Given the description of an element on the screen output the (x, y) to click on. 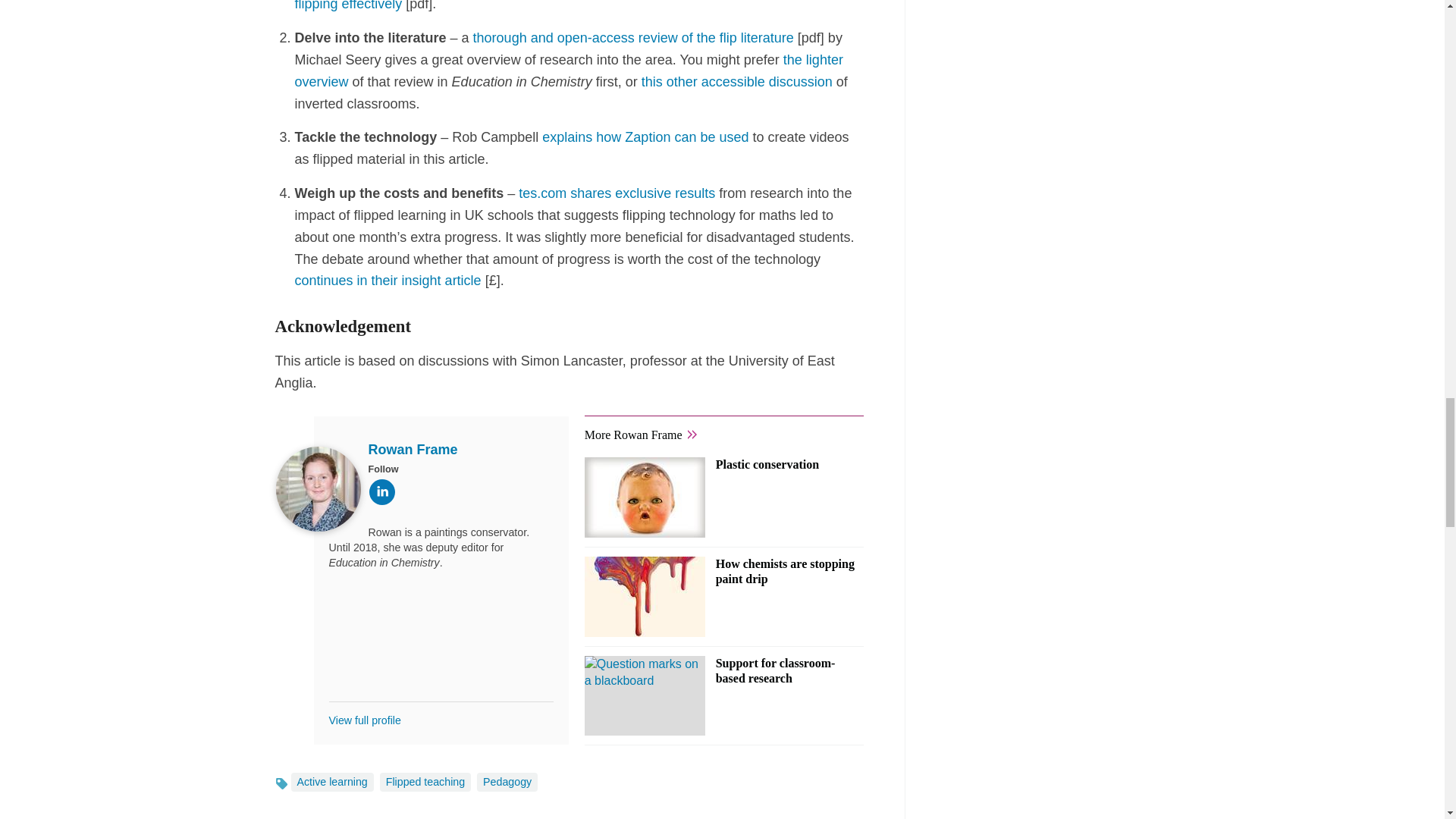
thorough and open-access review of the flip literature (633, 37)
